Given the description of an element on the screen output the (x, y) to click on. 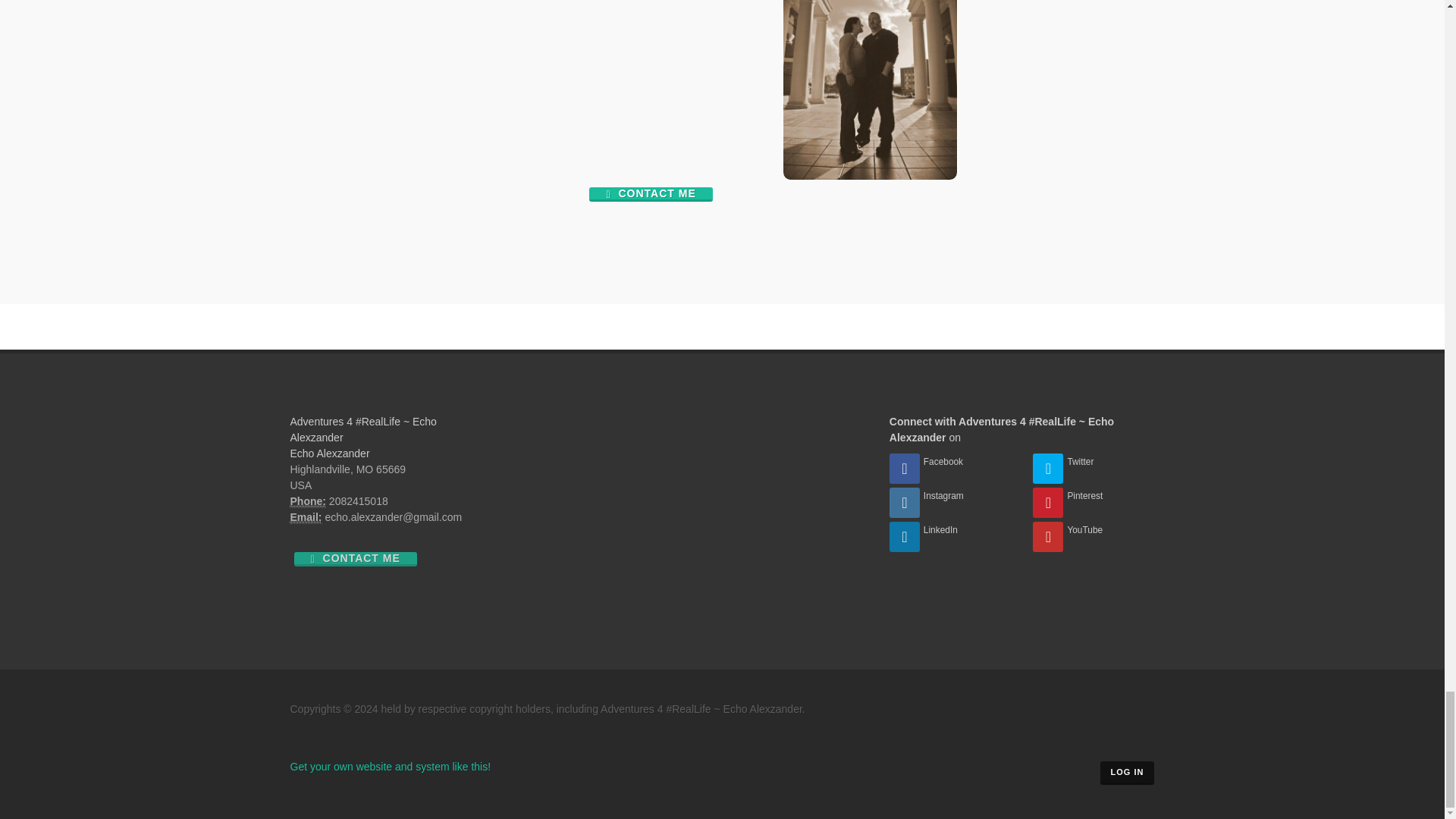
Email Address (305, 517)
Phone Number (306, 501)
